Given the description of an element on the screen output the (x, y) to click on. 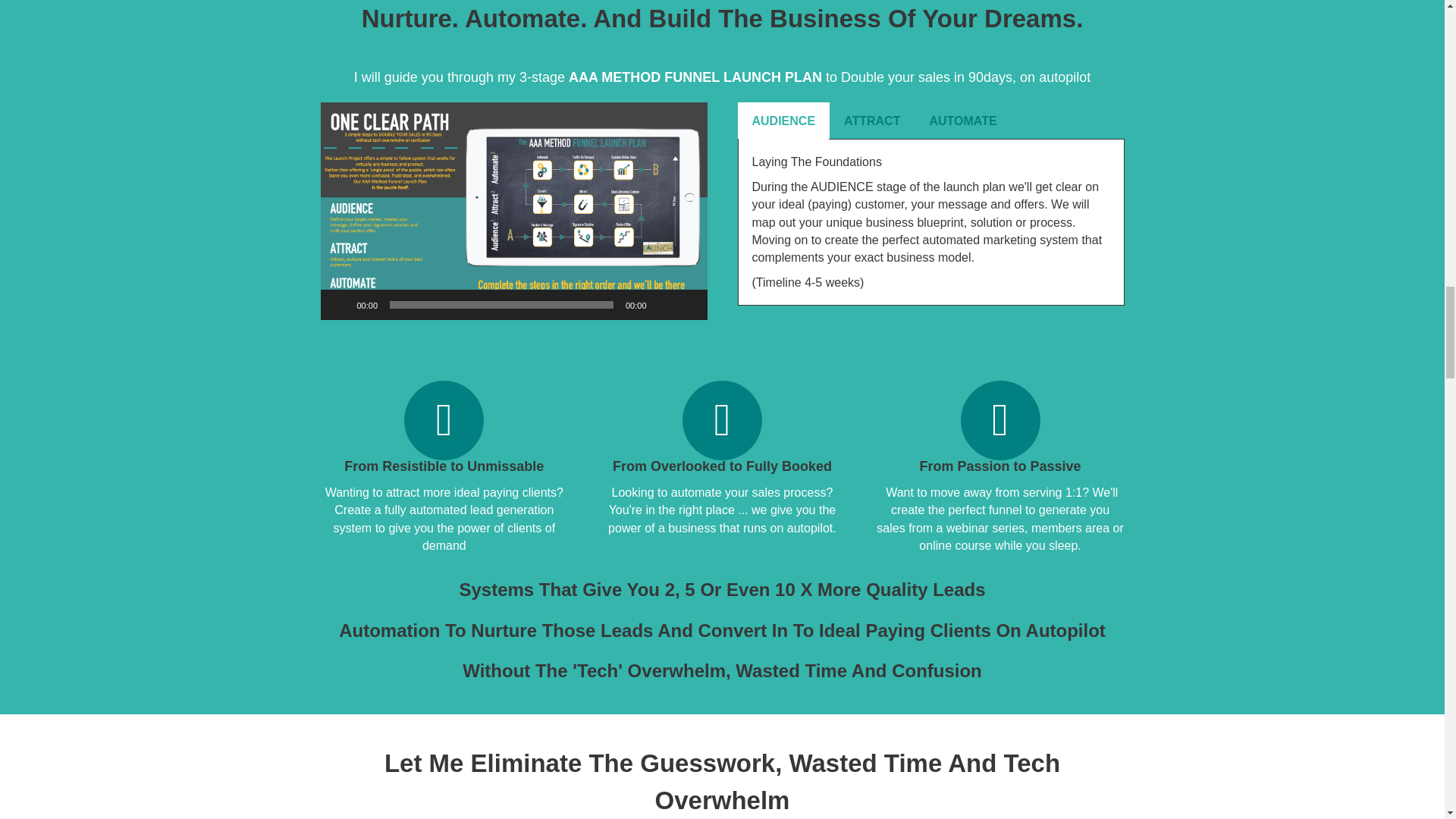
Fullscreen (686, 304)
AUDIENCE (782, 120)
AUTOMATE (962, 120)
Mute (662, 304)
ATTRACT (871, 120)
Play (339, 304)
